Given the description of an element on the screen output the (x, y) to click on. 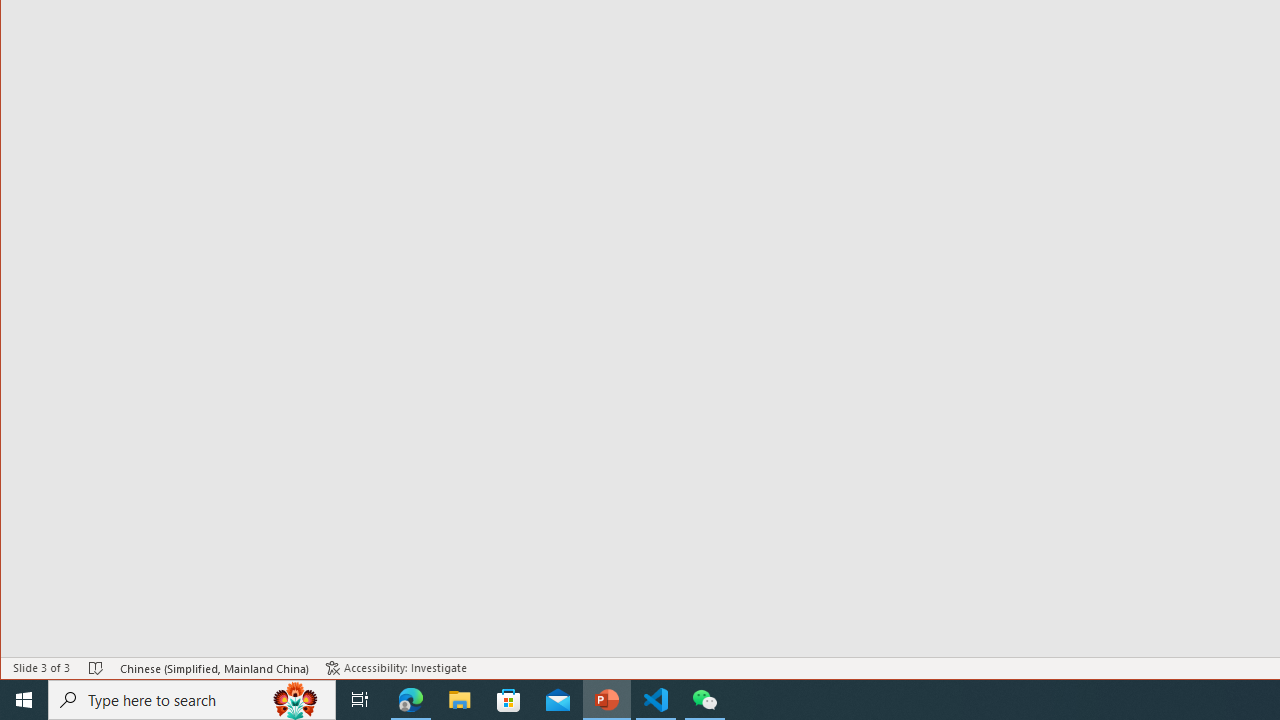
WeChat - 1 running window (704, 699)
